Given the description of an element on the screen output the (x, y) to click on. 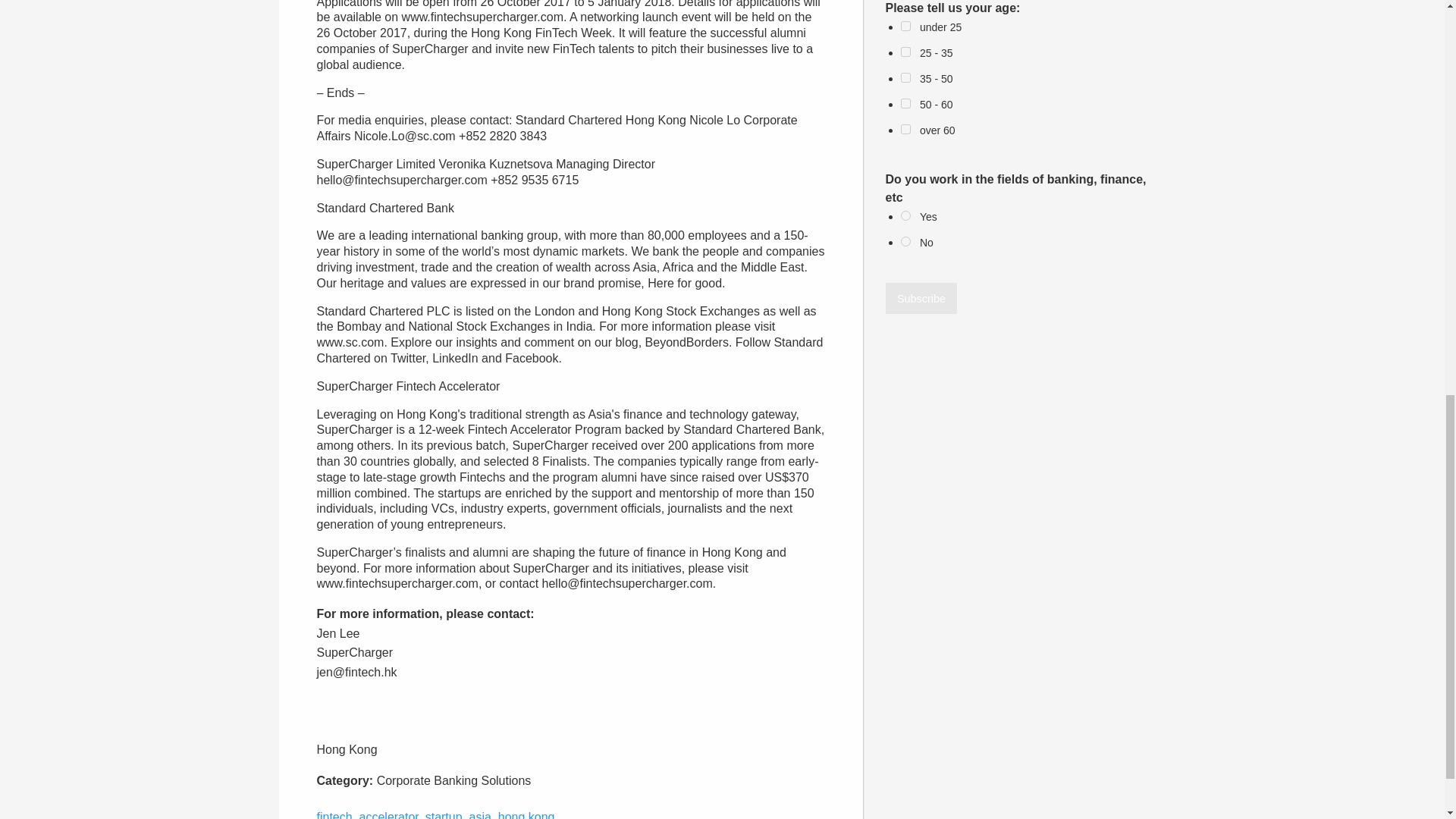
Subscribe (921, 297)
hong kong (525, 814)
8192 (906, 129)
2048 (906, 77)
512 (906, 26)
32768 (906, 241)
asia (479, 814)
accelerator (389, 814)
startup (444, 814)
1024 (906, 51)
4096 (906, 103)
Subscribe (921, 297)
fintech (334, 814)
16384 (906, 215)
